Given the description of an element on the screen output the (x, y) to click on. 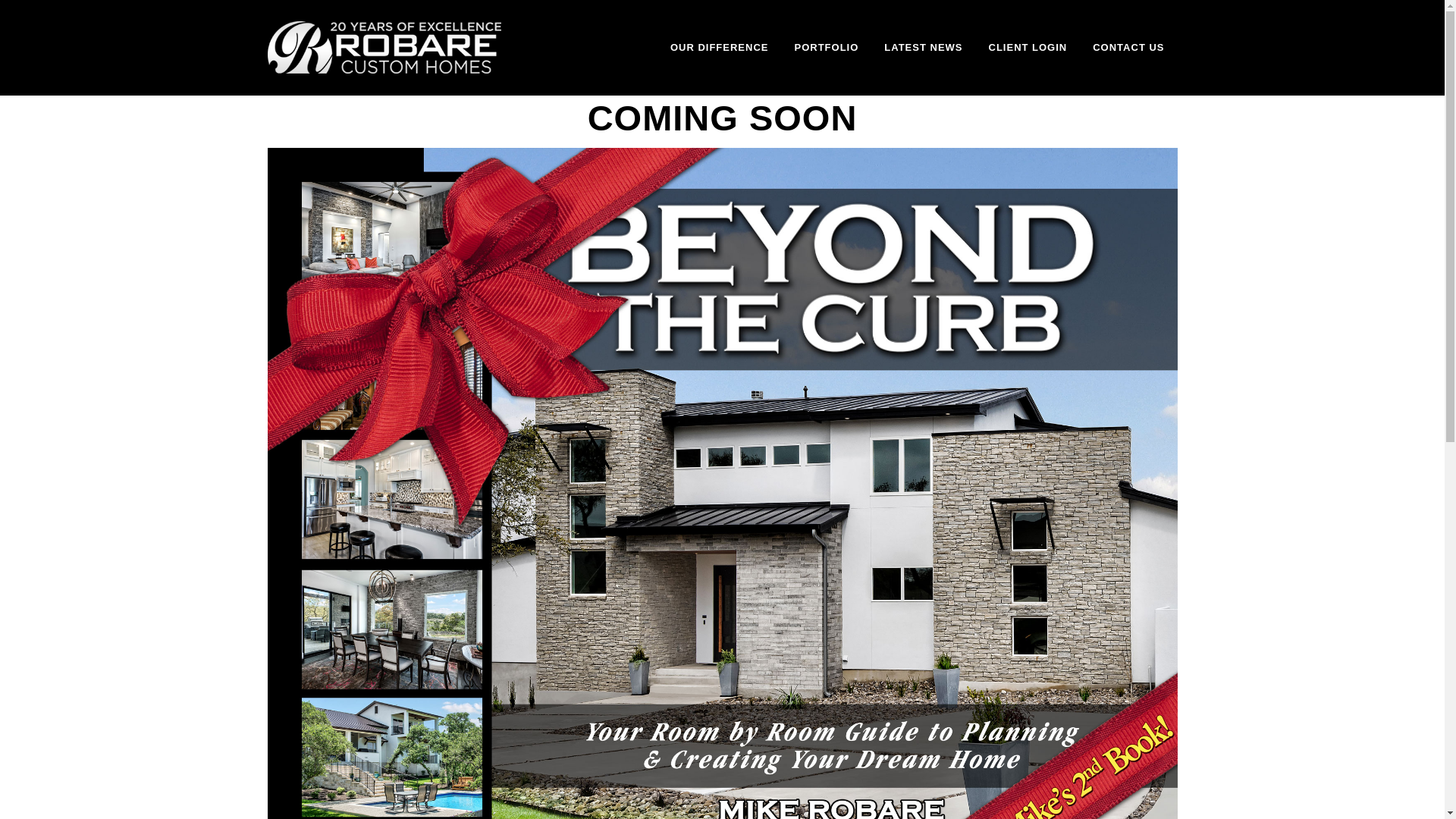
OUR DIFFERENCE (719, 47)
PORTFOLIO (825, 47)
